Given the description of an element on the screen output the (x, y) to click on. 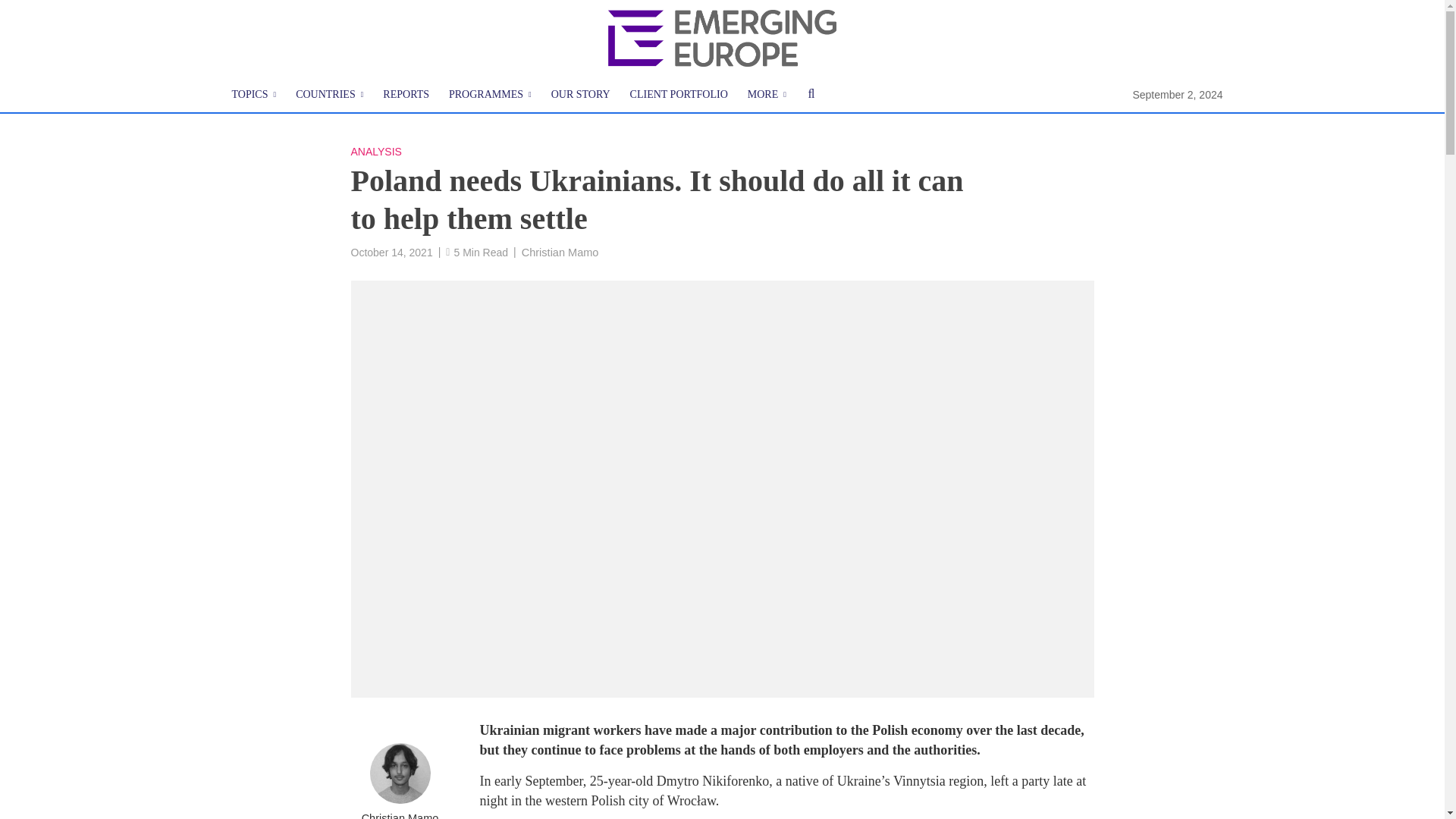
REPORTS (405, 94)
COUNTRIES (328, 94)
PROGRAMMES (490, 94)
TOPICS (253, 94)
